Given the description of an element on the screen output the (x, y) to click on. 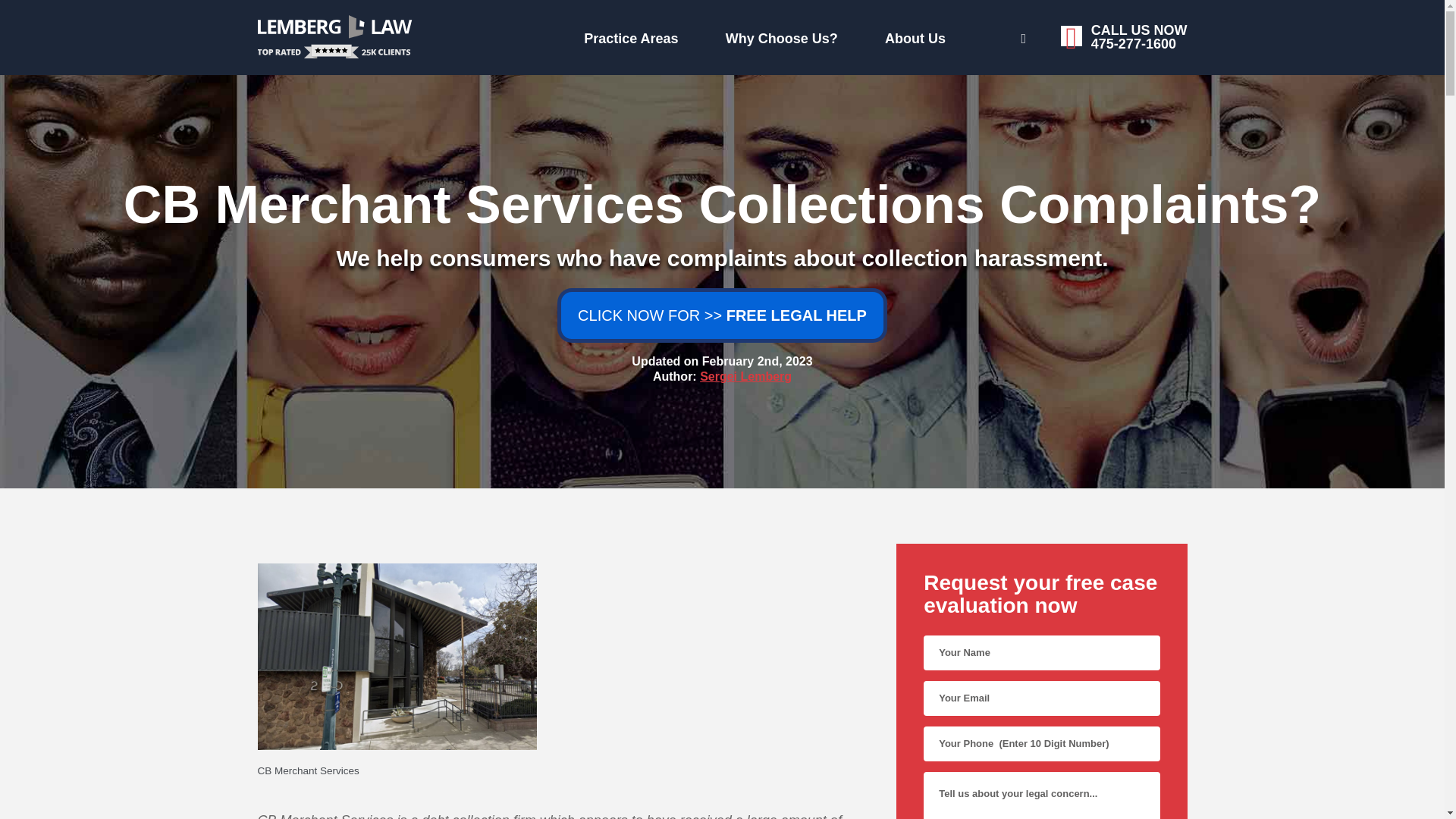
CB Merchant Services (563, 771)
Practice Areas (475, 35)
Sergei Lemberg (968, 35)
About Us (746, 376)
Why Choose Us? (760, 35)
